Given the description of an element on the screen output the (x, y) to click on. 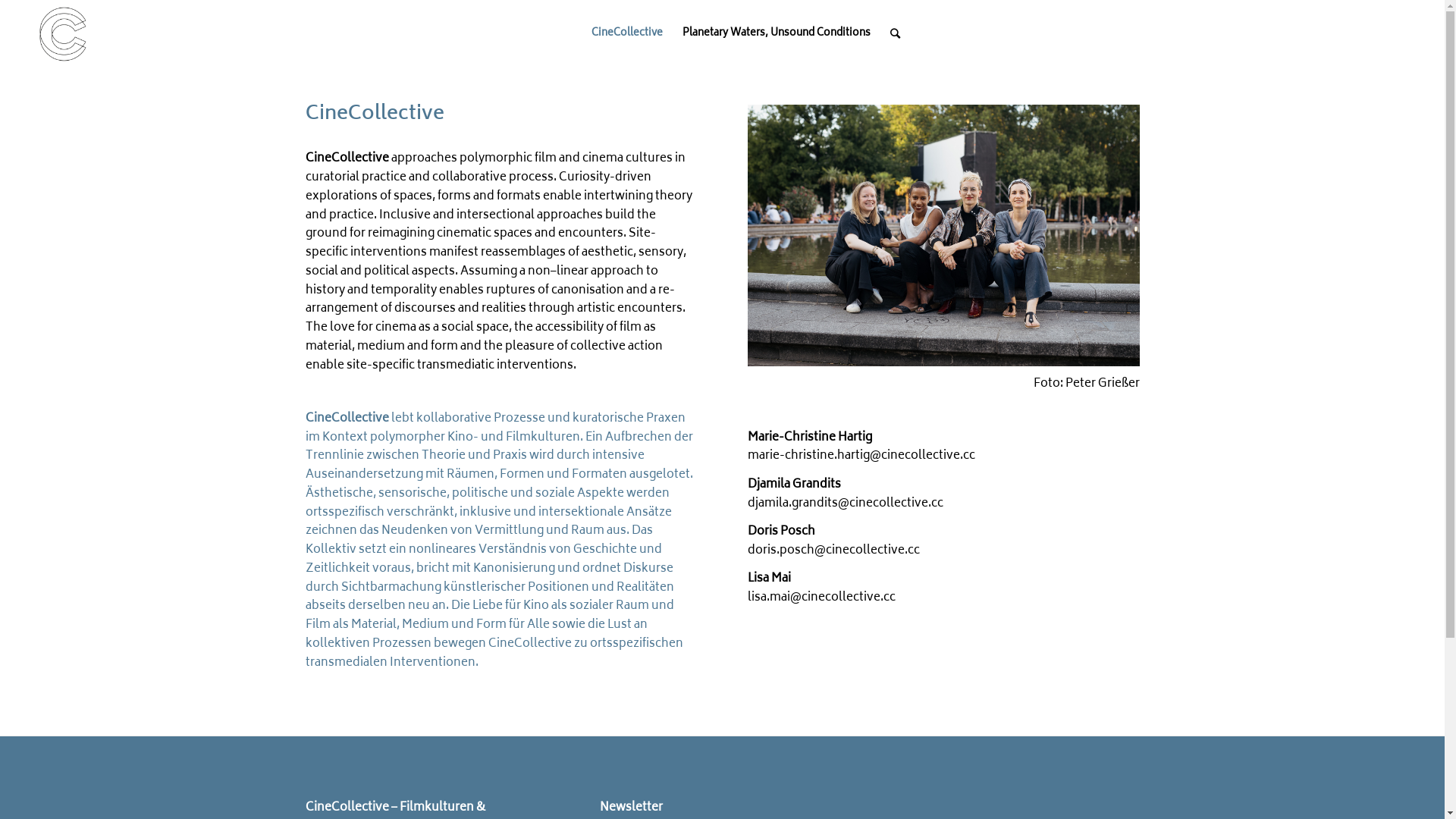
Planetary Waters, Unsound Conditions Element type: text (776, 34)
CineCollective_Foto_Peter_Griesser_c_Kaleidoskop Element type: hover (943, 235)
CineCollective Element type: text (626, 34)
